Given the description of an element on the screen output the (x, y) to click on. 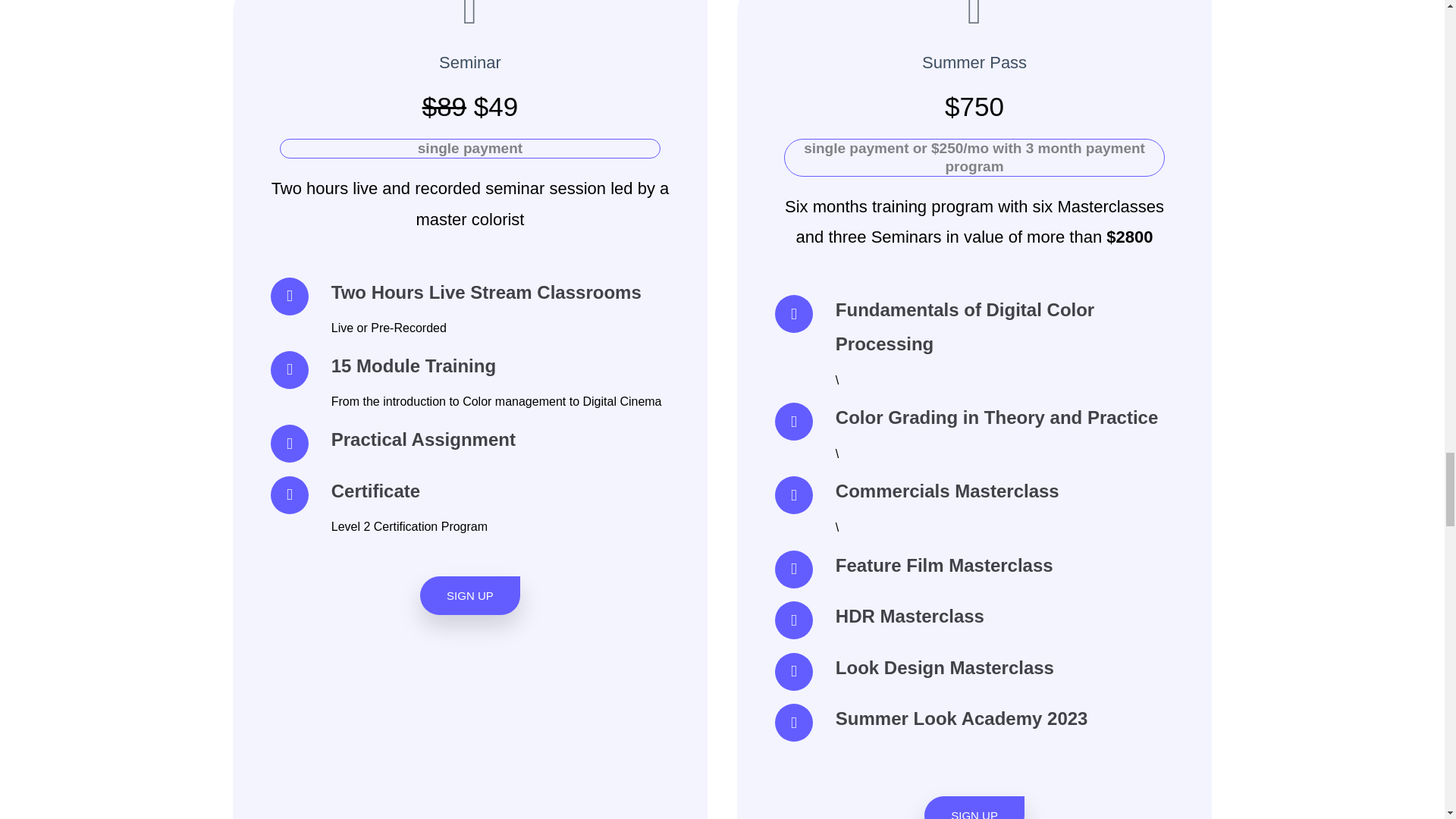
SIGN UP (469, 595)
SIGN UP (974, 807)
